Given the description of an element on the screen output the (x, y) to click on. 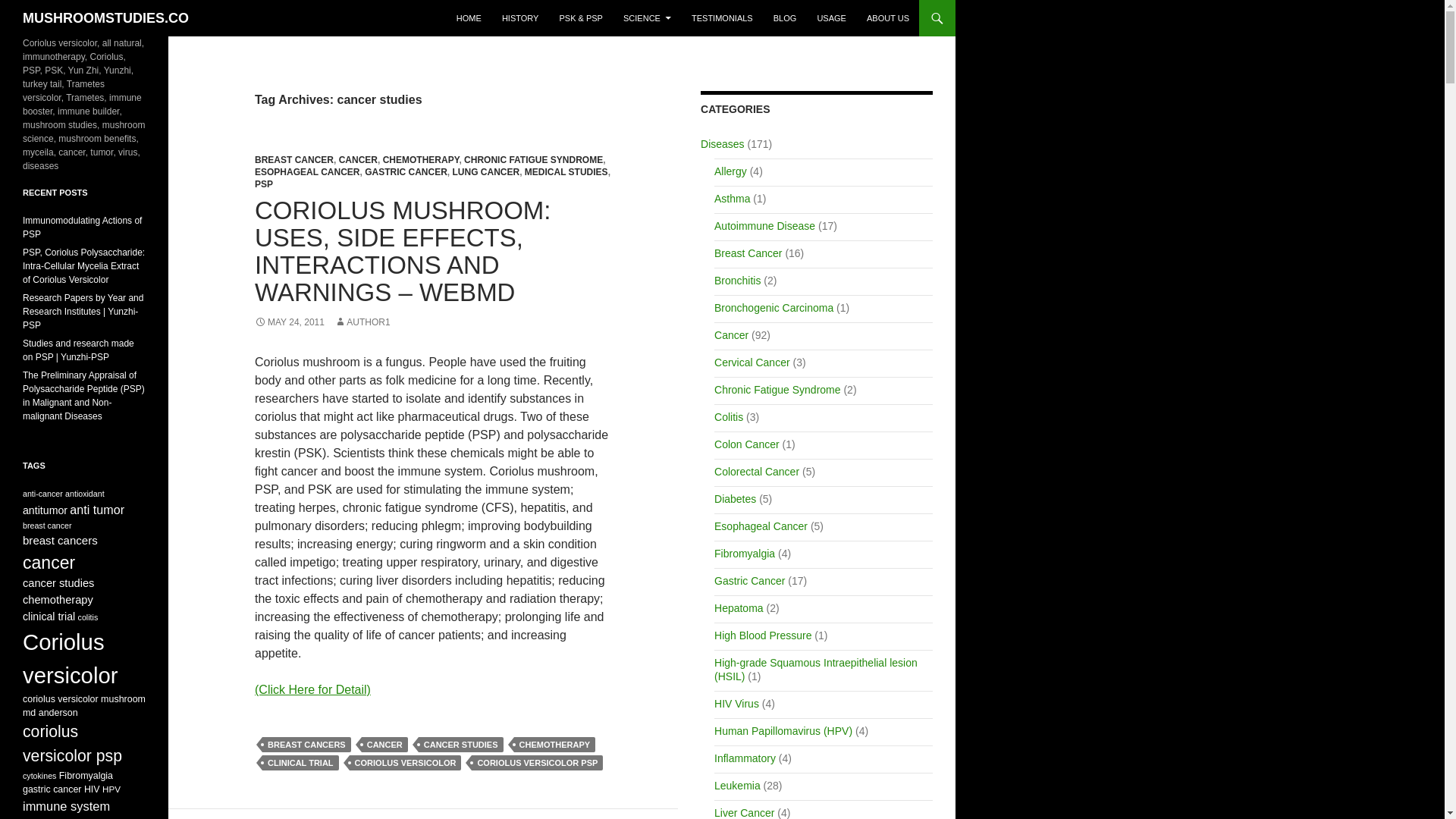
AUTHOR1 (362, 321)
GASTRIC CANCER (405, 172)
MUSHROOMSTUDIES.CO (106, 18)
CANCER (384, 744)
CLINICAL TRIAL (300, 762)
ESOPHAGEAL CANCER (306, 172)
SCIENCE (646, 18)
ABOUT US (887, 18)
BREAST CANCER (293, 159)
CANCER (358, 159)
USAGE (832, 18)
MEDICAL STUDIES (566, 172)
BLOG (785, 18)
LUNG CANCER (485, 172)
BREAST CANCERS (306, 744)
